Given the description of an element on the screen output the (x, y) to click on. 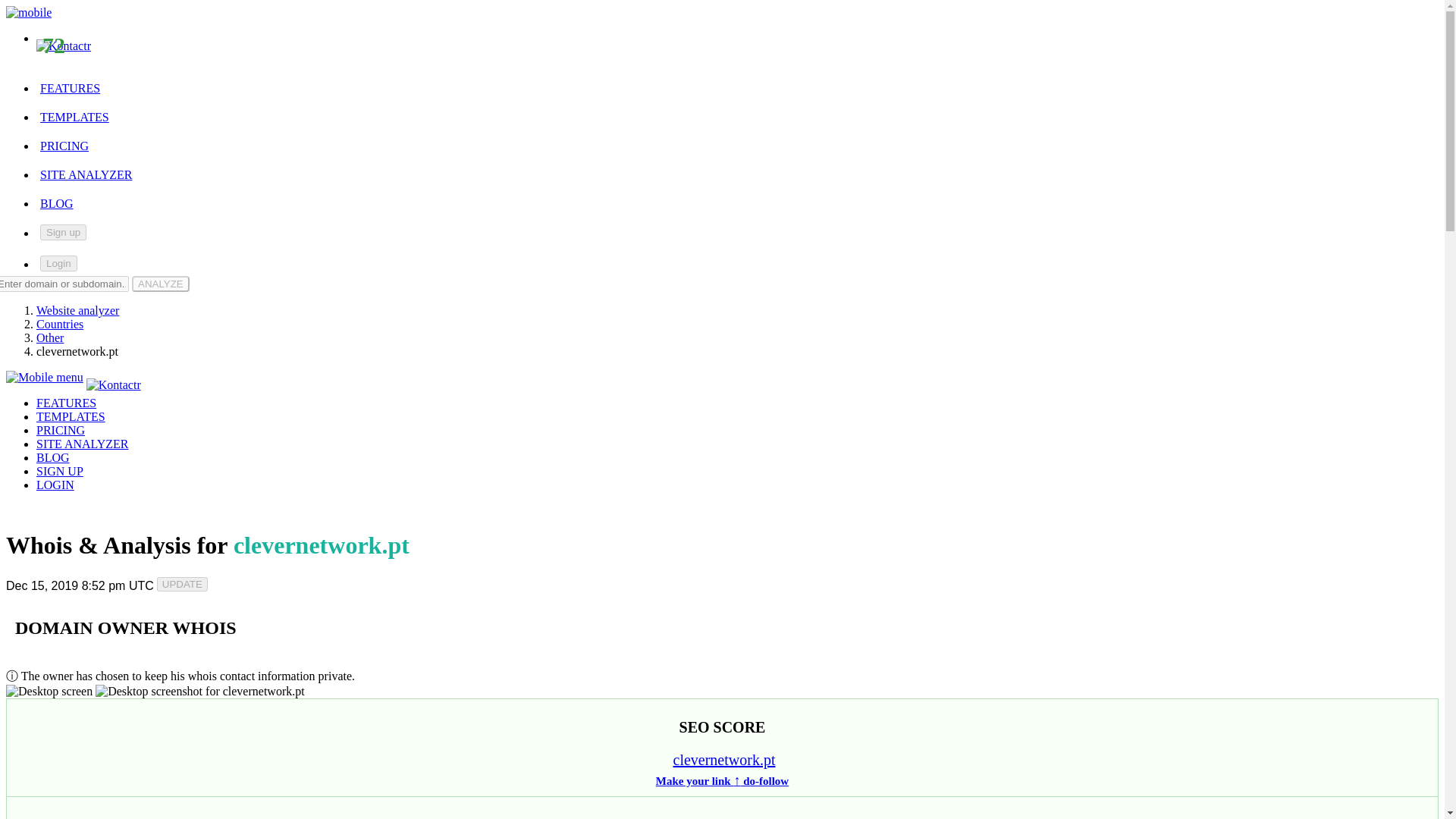
SITE ANALYZER (82, 443)
ANALYZE (160, 283)
PRICING (64, 145)
Sign up (62, 232)
BLOG (57, 203)
FEATURES (66, 402)
BLOG (52, 457)
TEMPLATES (74, 116)
Login (58, 263)
Login (58, 263)
UPDATE (182, 584)
Sign up (62, 232)
TEMPLATES (70, 416)
Website analyzer (77, 309)
PRICING (60, 430)
